Given the description of an element on the screen output the (x, y) to click on. 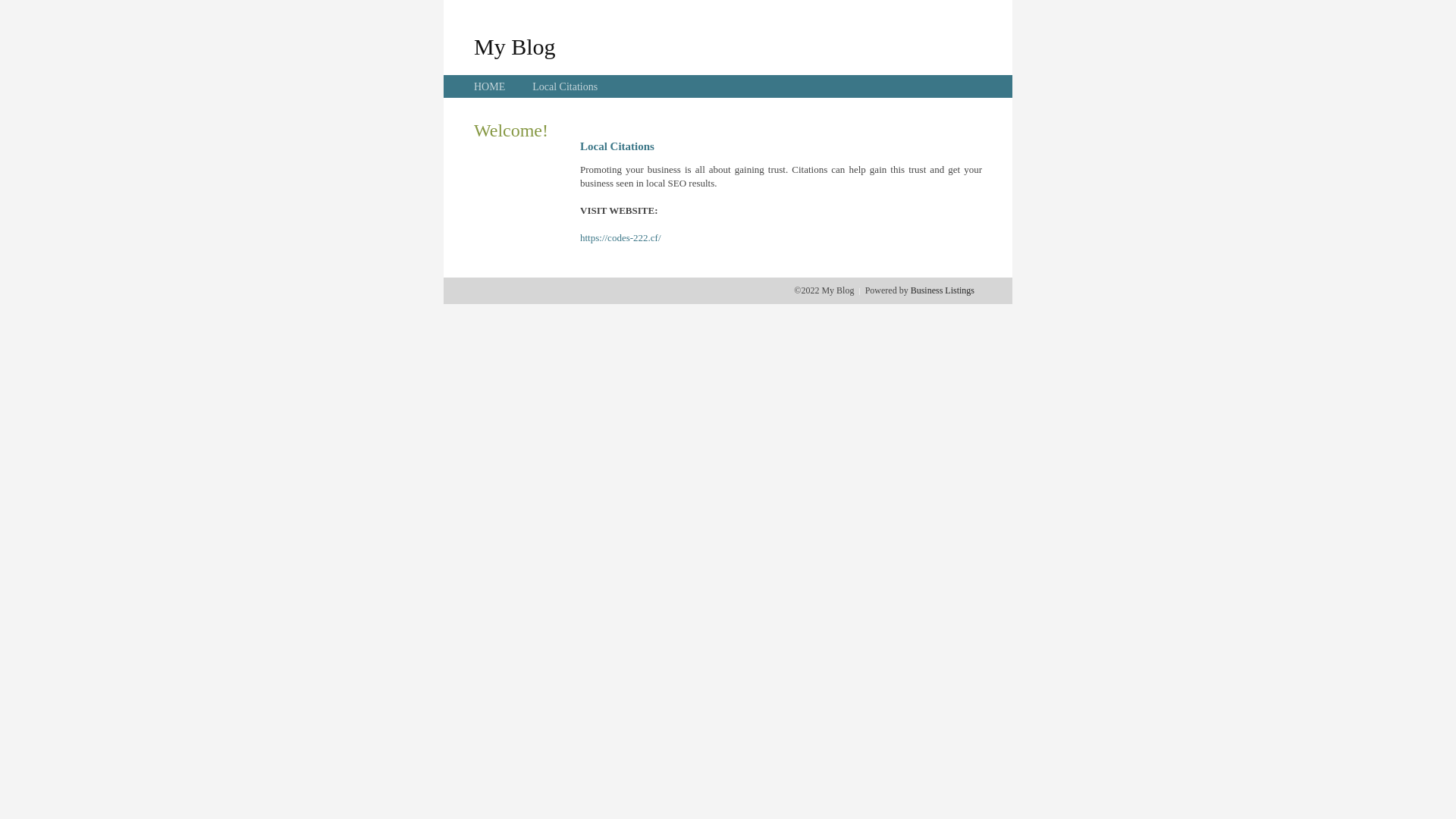
Business Listings Element type: text (942, 290)
HOME Element type: text (489, 86)
My Blog Element type: text (514, 46)
https://codes-222.cf/ Element type: text (620, 237)
Local Citations Element type: text (564, 86)
